Given the description of an element on the screen output the (x, y) to click on. 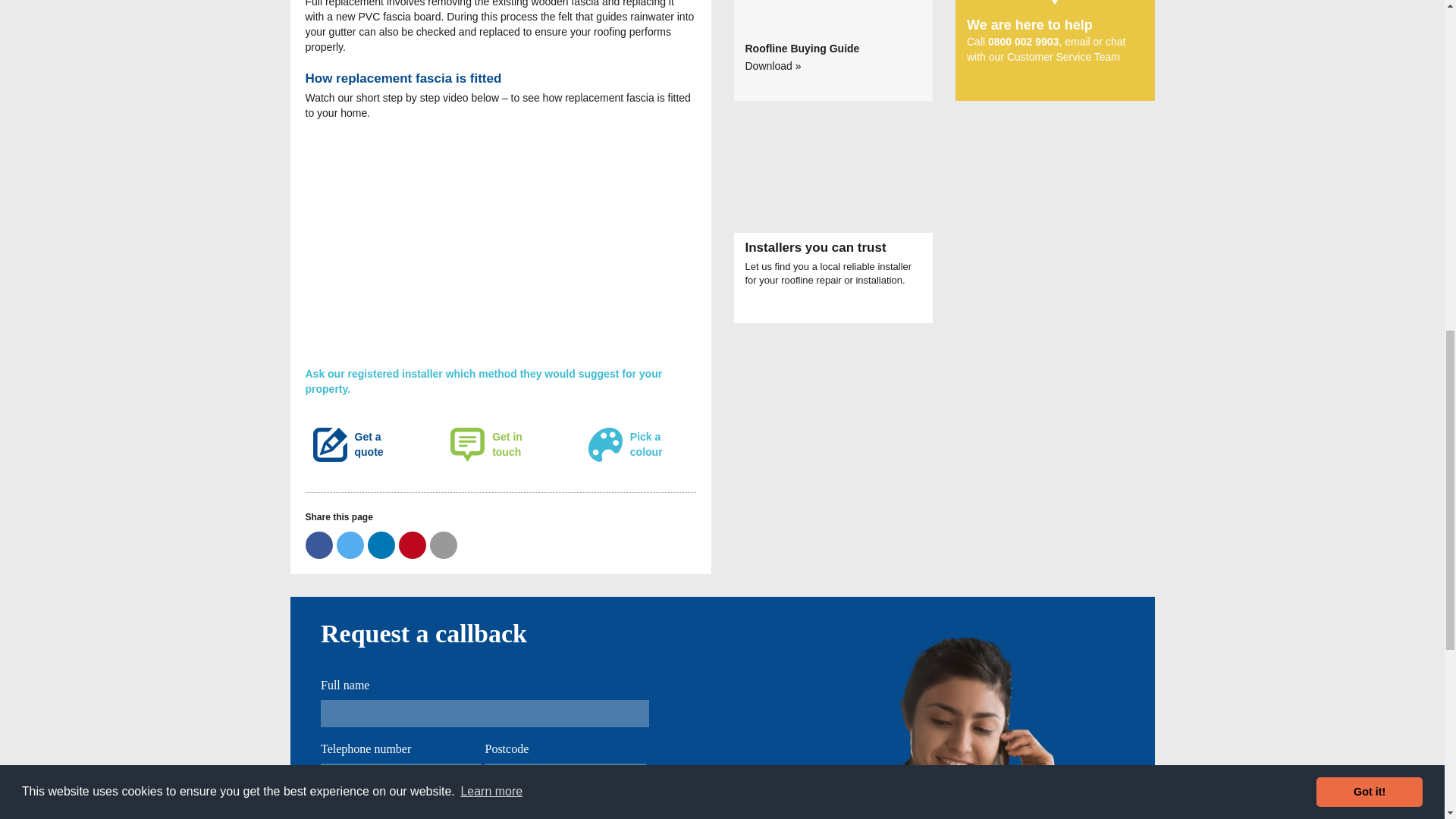
Share on Pinterest (412, 544)
Share by email (443, 544)
Share on Facebook (317, 544)
Share on Twitter (350, 544)
Share on LinkedIn (380, 544)
